Given the description of an element on the screen output the (x, y) to click on. 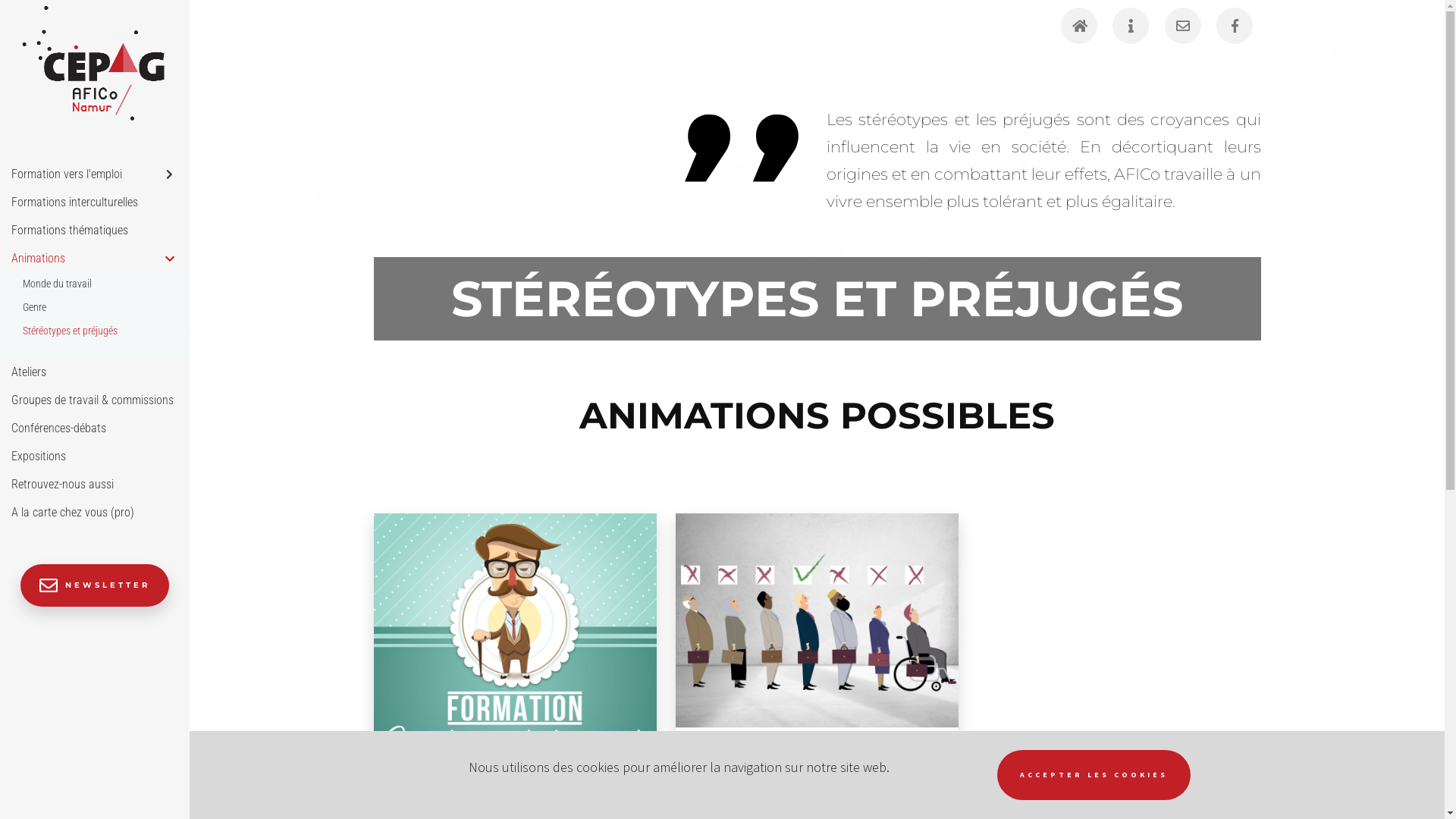
Expositions Element type: text (94, 455)
ACCEPTER LES COOKIES Element type: text (1093, 774)
A la carte chez vous (pro) Element type: text (94, 511)
Groupes de travail & commissions Element type: text (94, 399)
Formation vers l'emploi Element type: text (94, 173)
Formations interculturelles Element type: text (94, 202)
Genre Element type: text (94, 307)
Retrouvez-nous aussi Element type: text (94, 484)
Monde du travail Element type: text (94, 282)
NEWSLETTER Element type: text (94, 585)
Ateliers Element type: text (94, 371)
Animations Element type: text (94, 258)
